Given the description of an element on the screen output the (x, y) to click on. 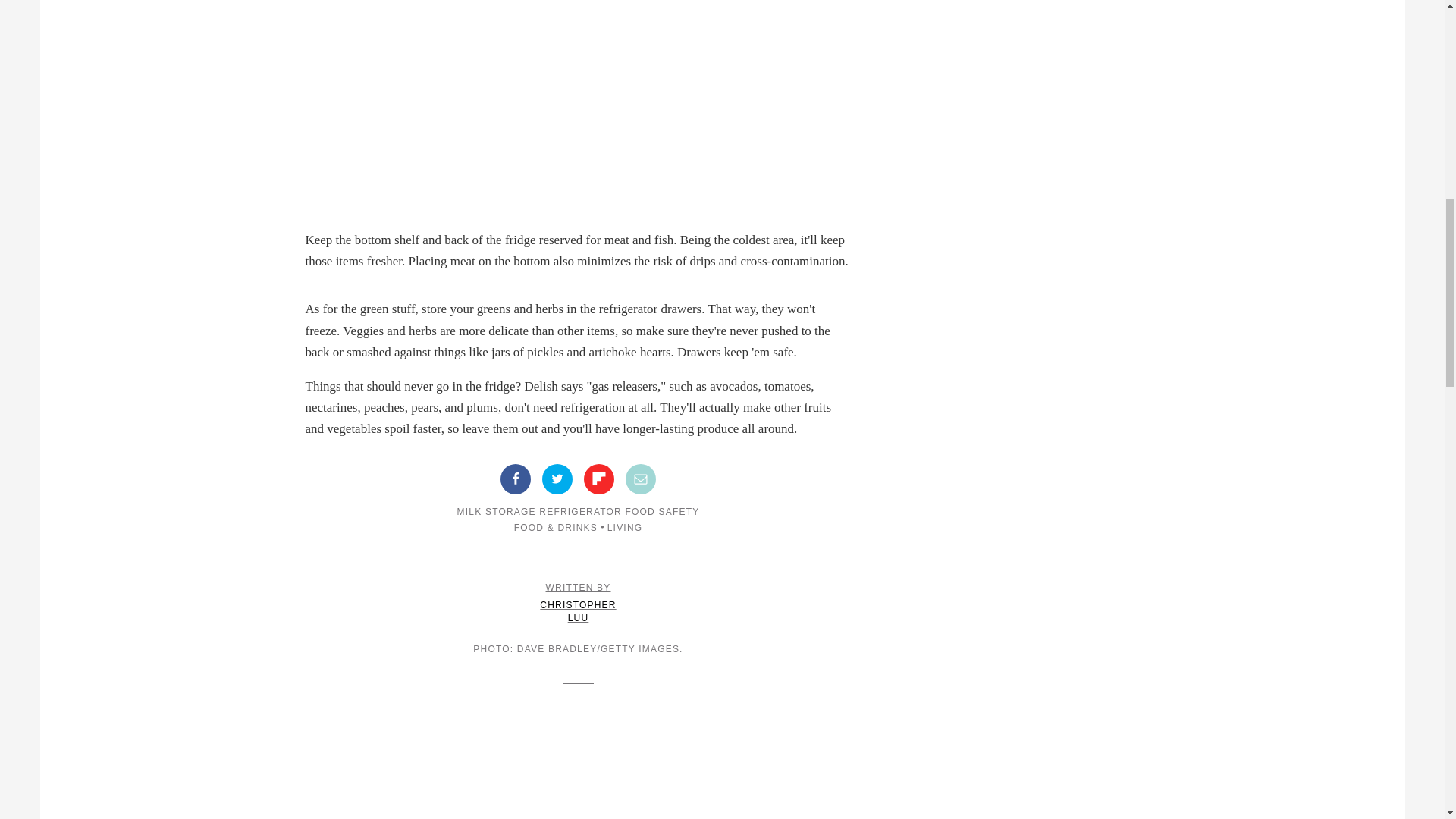
LIVING (625, 527)
Share on Twitter (556, 479)
Share by Email (641, 479)
Share on Flipboard (577, 603)
